Given the description of an element on the screen output the (x, y) to click on. 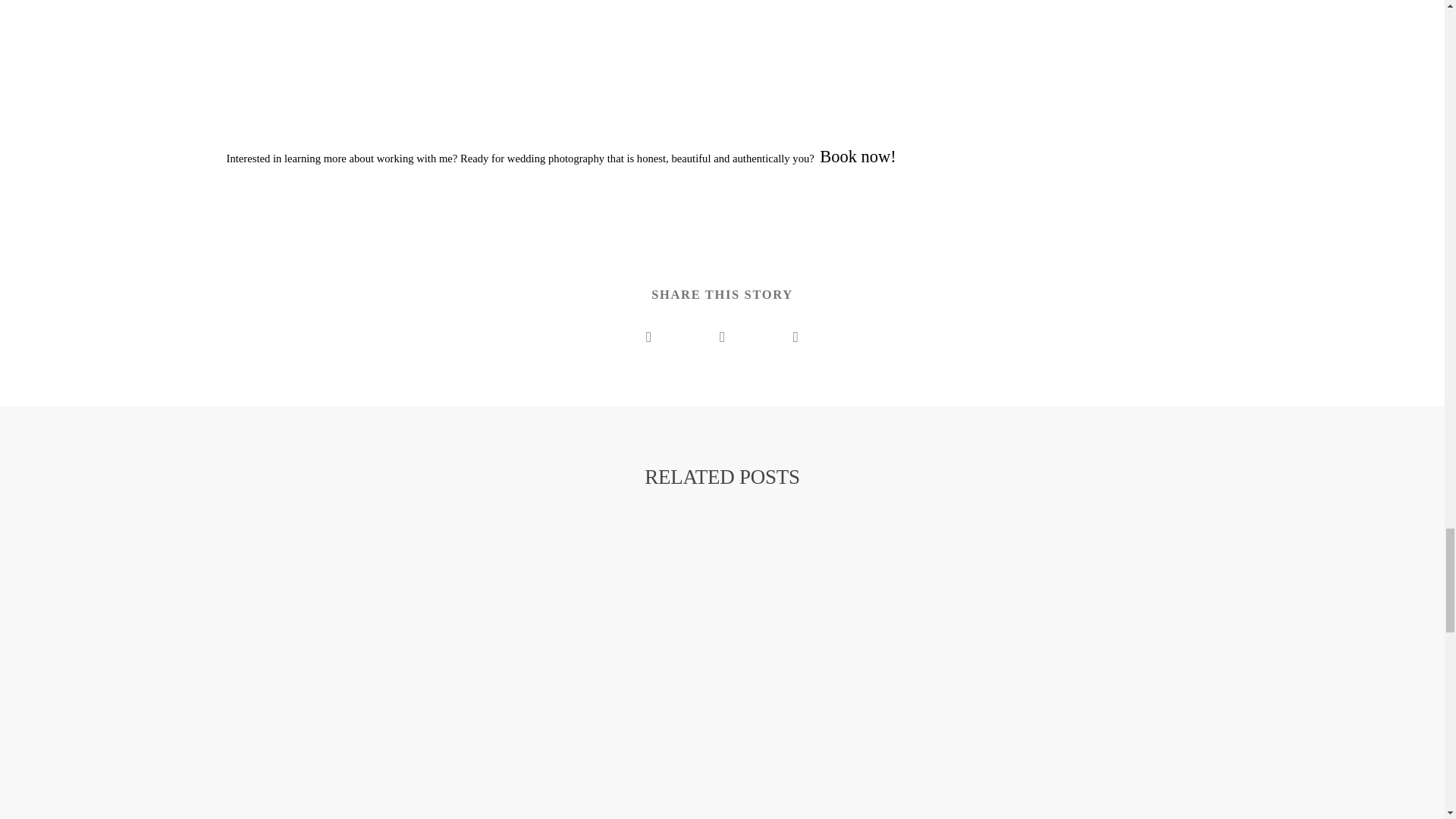
Book now! (857, 156)
Vermont Wedding Photography .:. Woodstock Inn (309, 683)
